Given the description of an element on the screen output the (x, y) to click on. 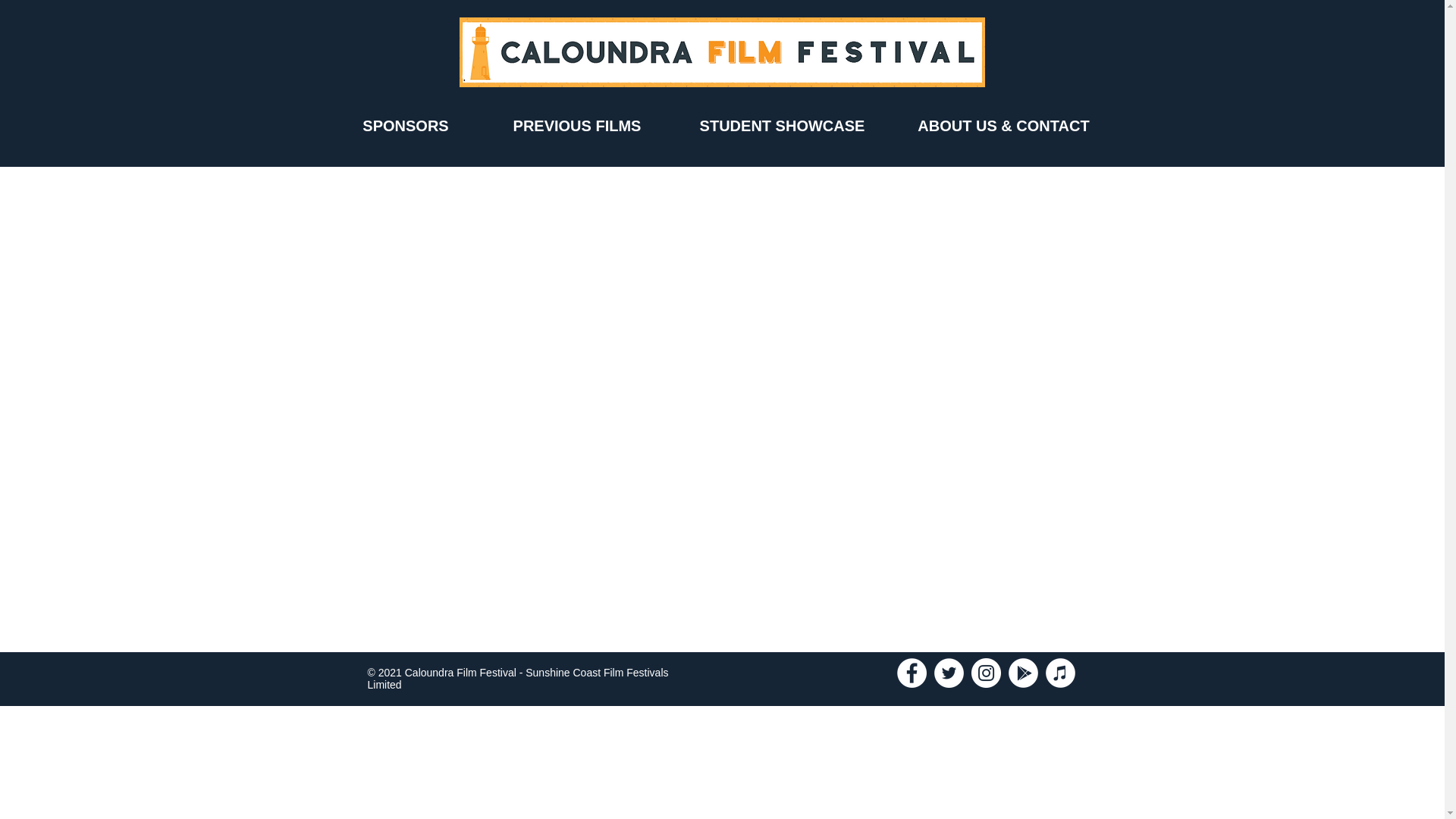
SPONSORS (405, 125)
STUDENT SHOWCASE (781, 125)
PREVIOUS FILMS (576, 125)
